Given the description of an element on the screen output the (x, y) to click on. 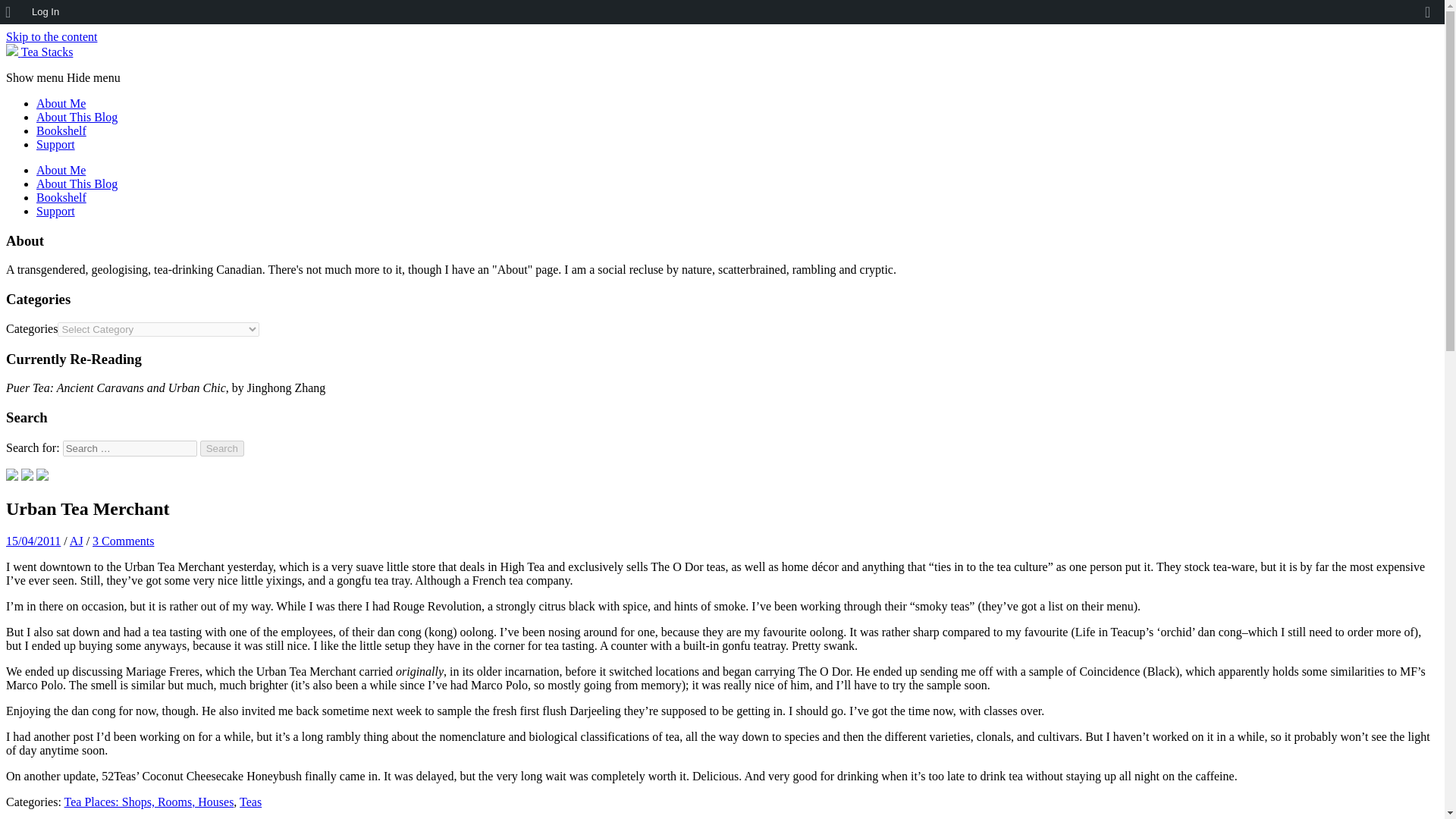
About Me (60, 103)
About This Blog (76, 183)
Skip to the content (51, 36)
Support (55, 144)
3 Comments (123, 540)
Search (222, 448)
About WordPress (13, 12)
Bookshelf (60, 130)
Support (55, 210)
Tea Stacks (38, 51)
